Given the description of an element on the screen output the (x, y) to click on. 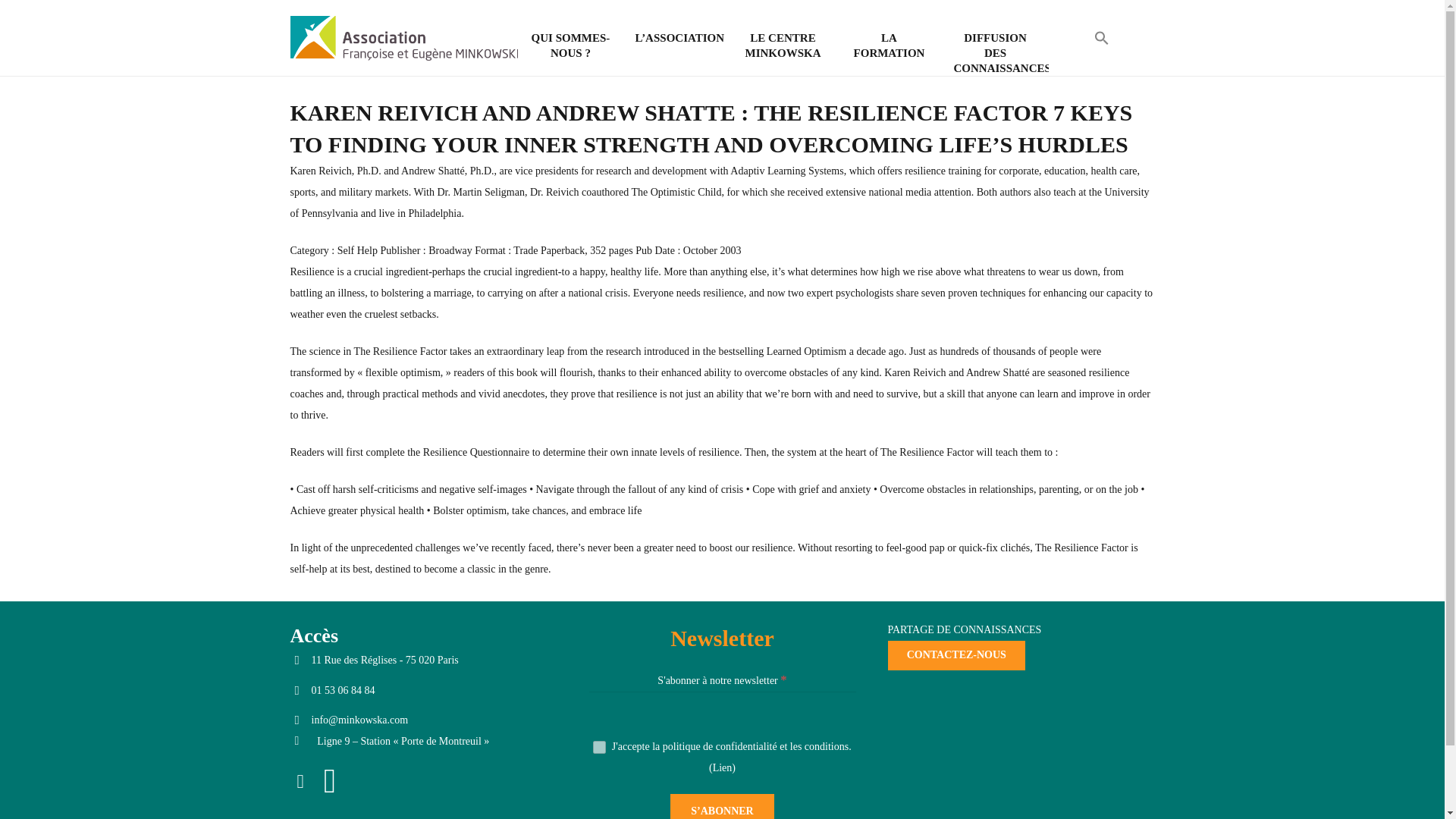
DIFFUSION DES CONNAISSANCES (995, 53)
contact (955, 655)
LE CENTRE MINKOWSKA (782, 45)
1 (598, 747)
Lien (722, 767)
QUI SOMMES-NOUS ? (569, 45)
CONTACTEZ-NOUS (955, 655)
LA FORMATION (888, 45)
Facebook (302, 782)
PARTAGE DE CONNAISSANCES (963, 629)
